Given the description of an element on the screen output the (x, y) to click on. 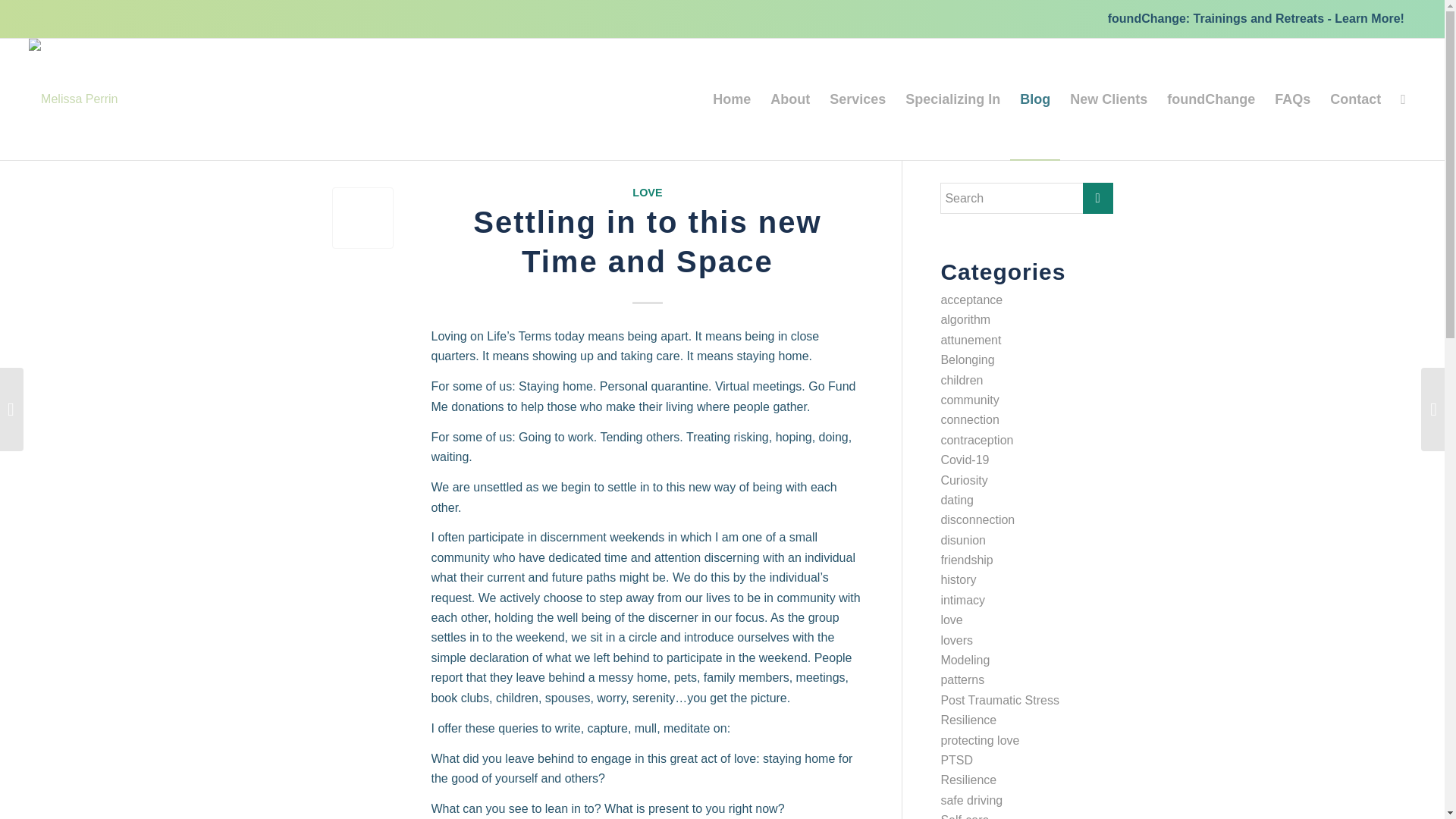
foundChange: Trainings and Retreats - Learn More! (1256, 18)
children (961, 379)
algorithm (965, 318)
acceptance (971, 299)
community (969, 399)
attunement (970, 339)
Specializing In (952, 98)
Belonging (967, 359)
LOVE (646, 192)
